Given the description of an element on the screen output the (x, y) to click on. 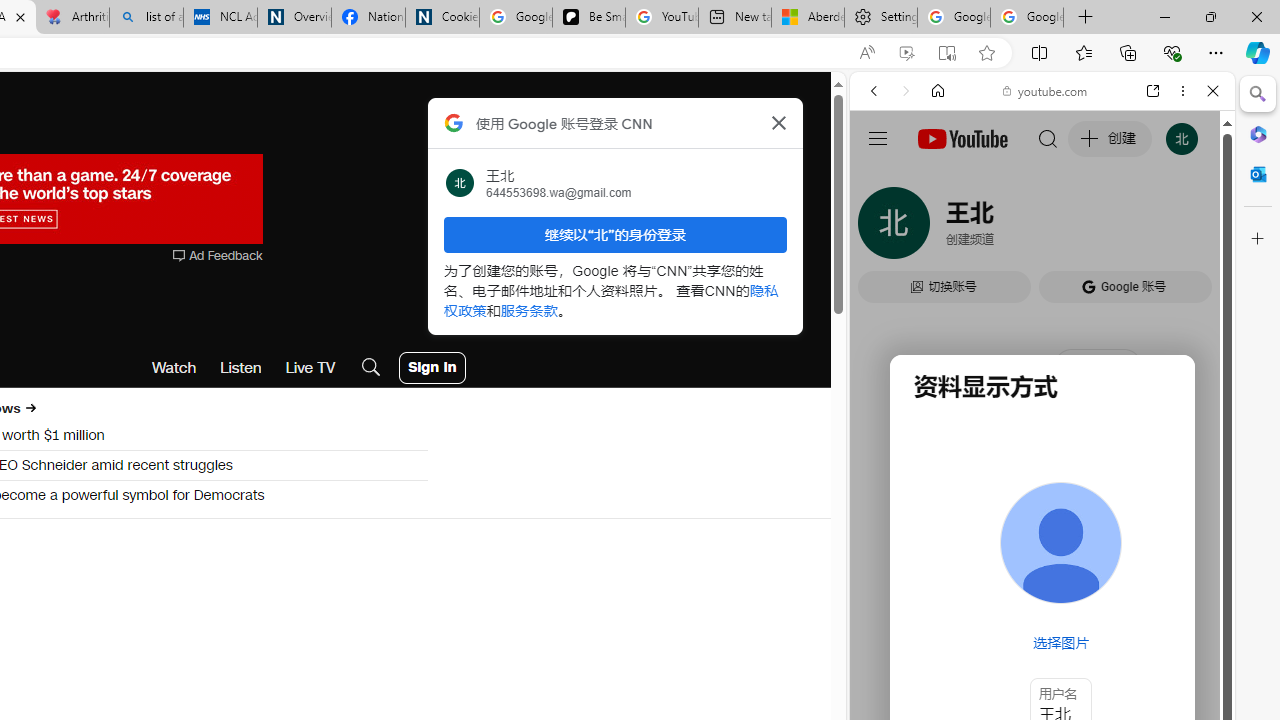
Cookies (441, 17)
